Given the description of an element on the screen output the (x, y) to click on. 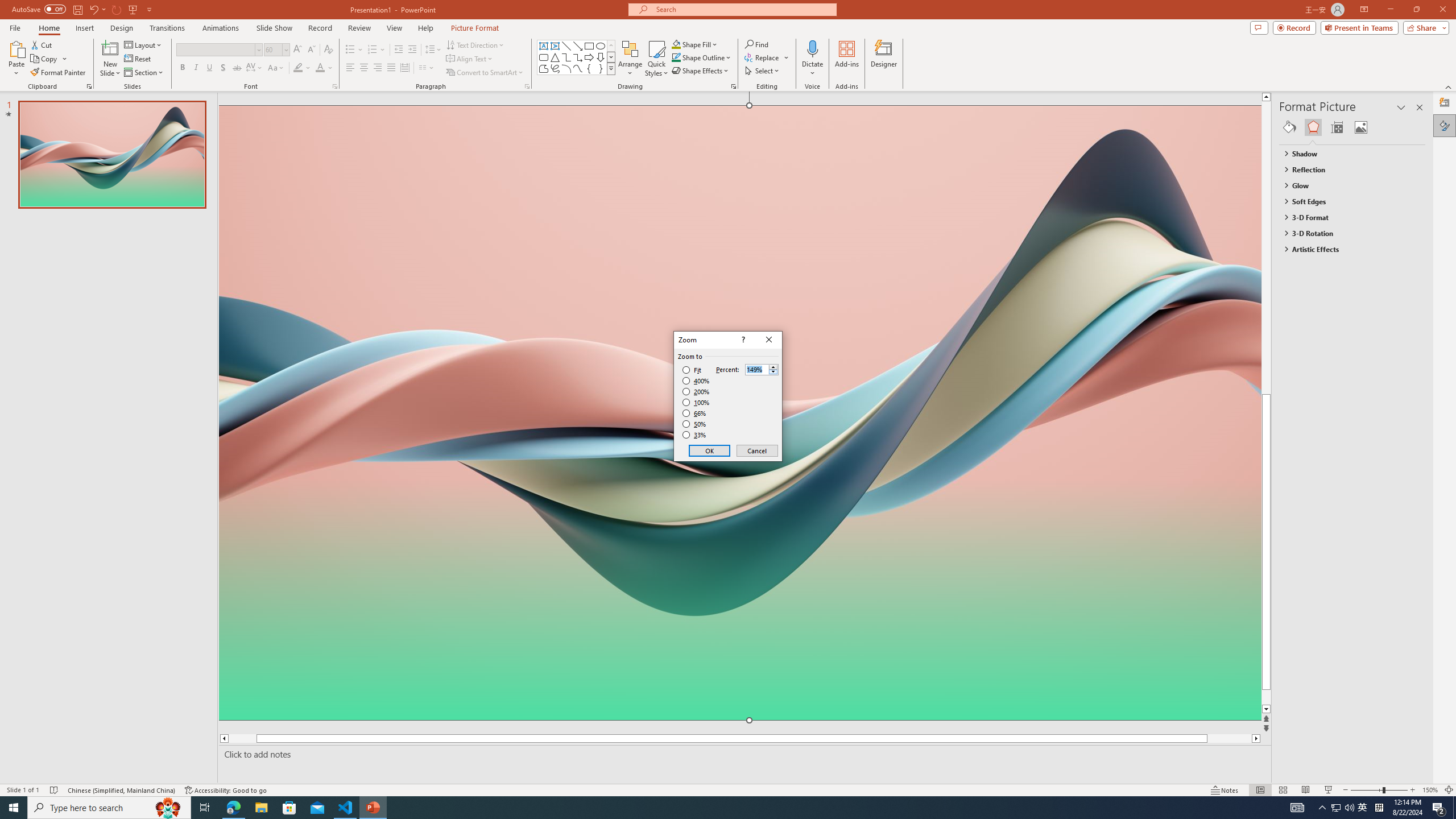
OK (709, 450)
Fit (691, 370)
50% (694, 424)
Glow (1347, 185)
